Given the description of an element on the screen output the (x, y) to click on. 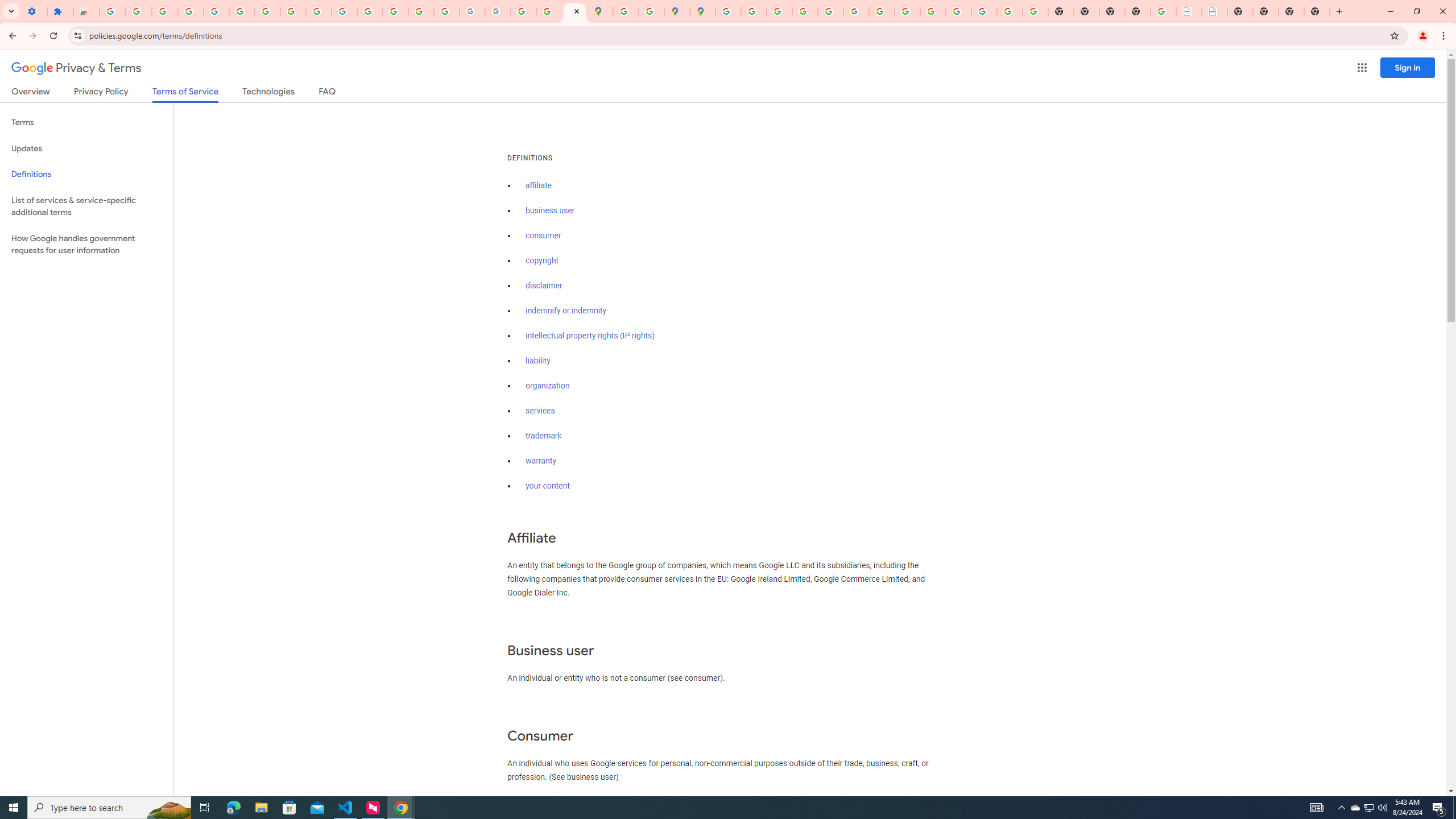
warranty (540, 461)
Settings - On startup (34, 11)
indemnify or indemnity (565, 311)
consumer (543, 235)
Sign in - Google Accounts (242, 11)
Google Images (1034, 11)
How Google handles government requests for user information (86, 244)
